Given the description of an element on the screen output the (x, y) to click on. 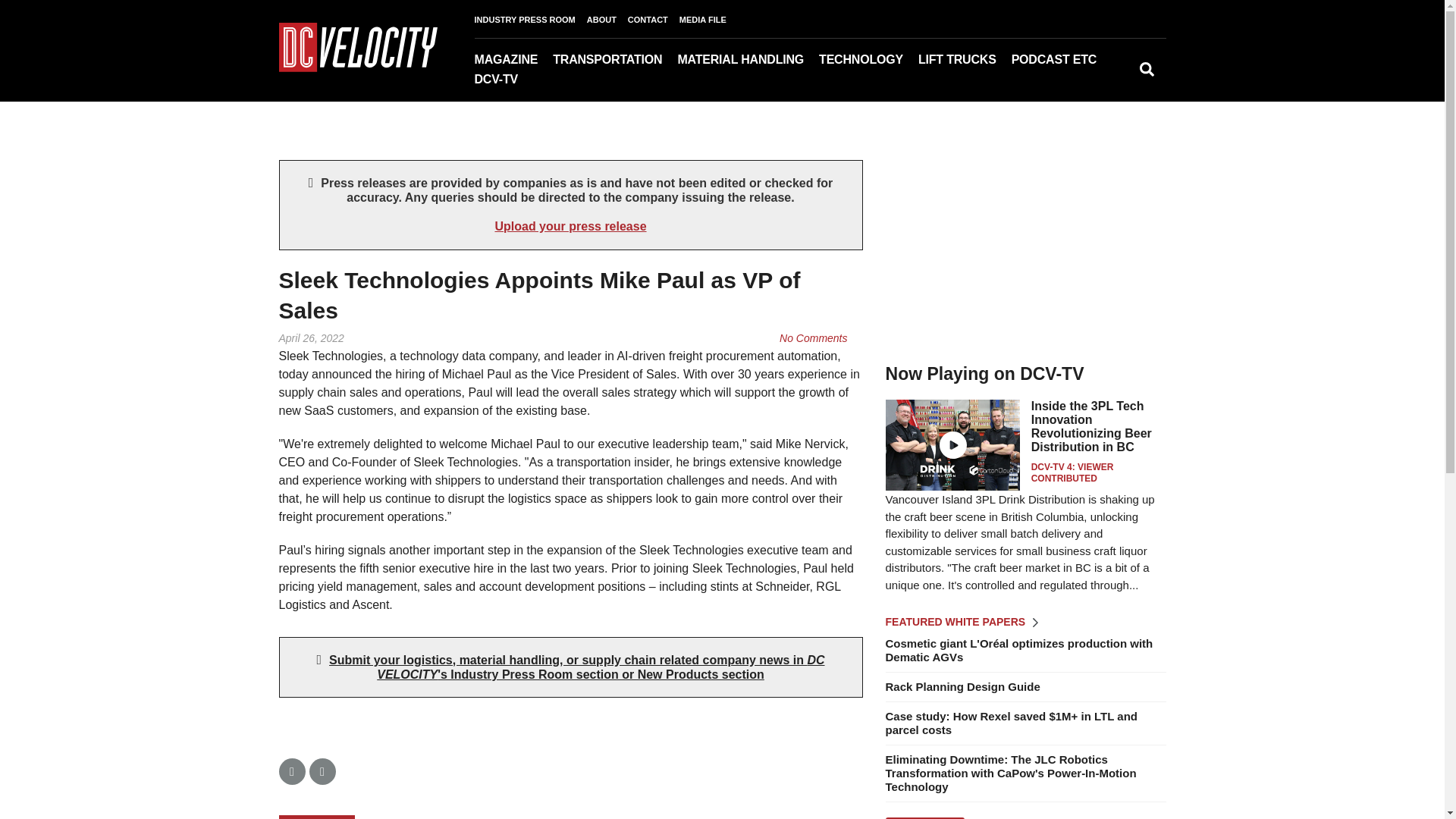
Industry Press Room (1112, 81)
New Products (1115, 81)
TECHNOLOGY (868, 59)
MATERIAL HANDLING (747, 59)
Archives (555, 81)
MAGAZINE (513, 59)
White Papers (1108, 81)
Current Issue (550, 81)
Blogs (1098, 81)
LIFT TRUCKS (964, 59)
